Given the description of an element on the screen output the (x, y) to click on. 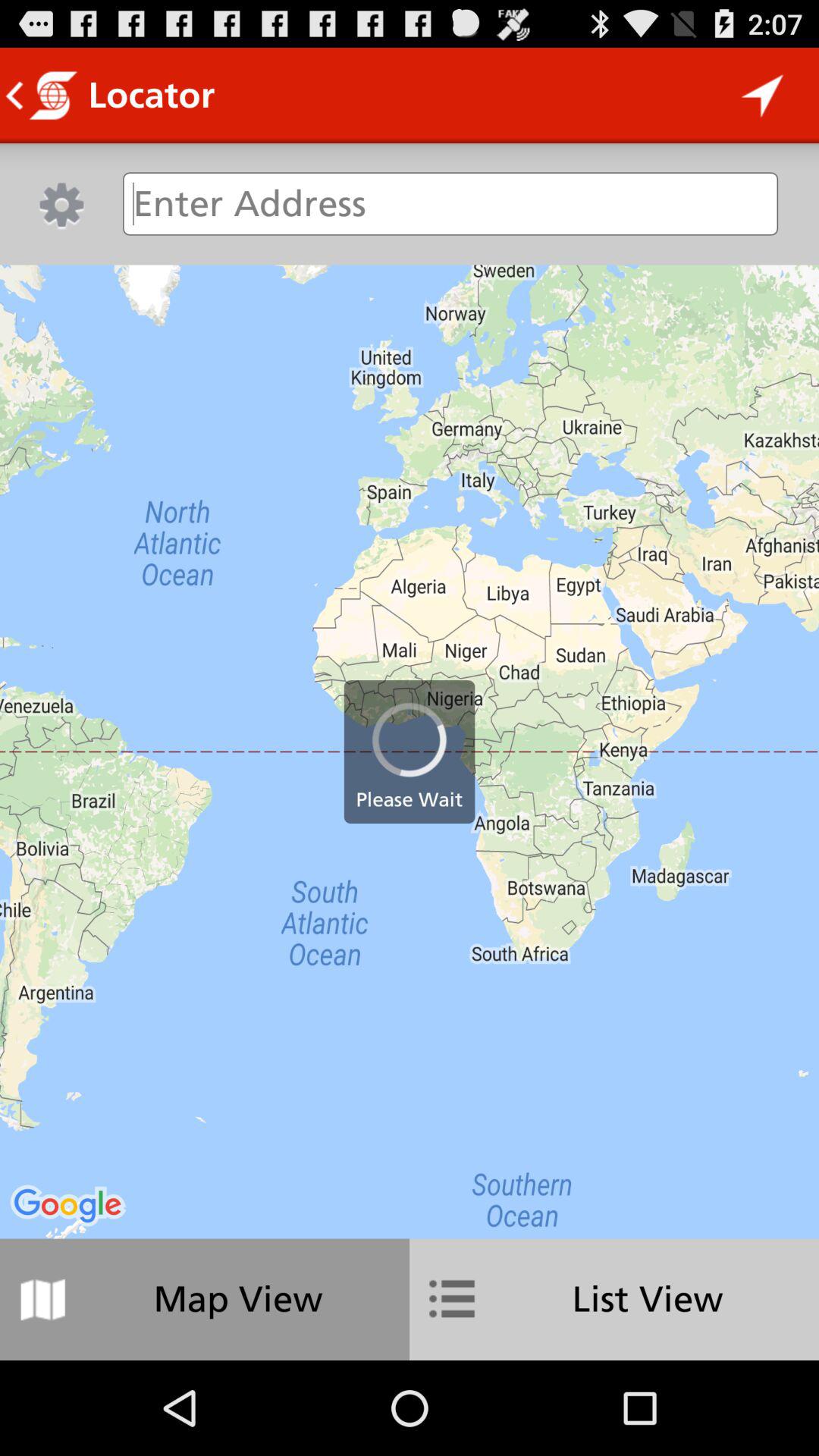
turn on the item at the top right corner (763, 95)
